Given the description of an element on the screen output the (x, y) to click on. 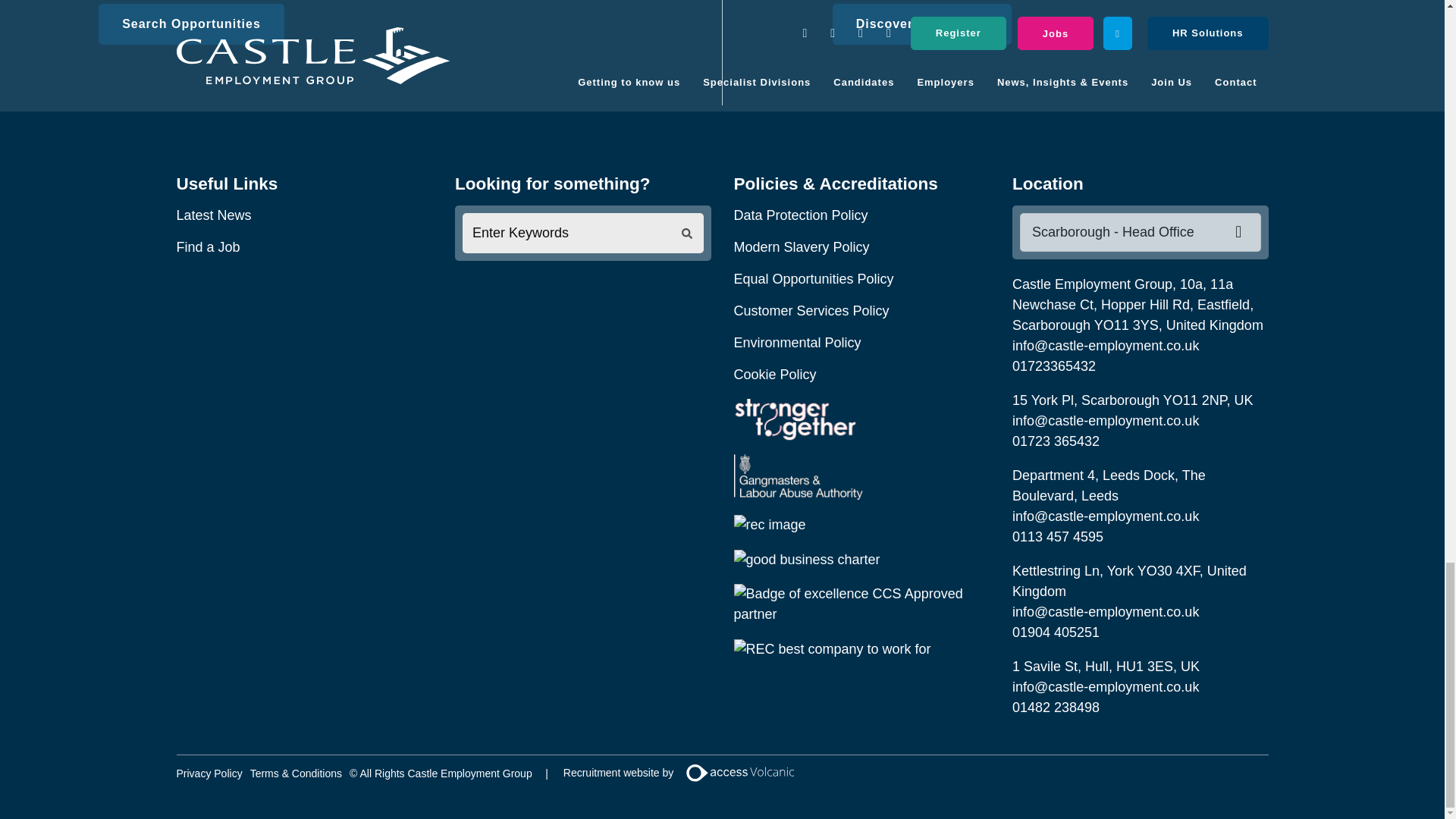
search (687, 233)
